Given the description of an element on the screen output the (x, y) to click on. 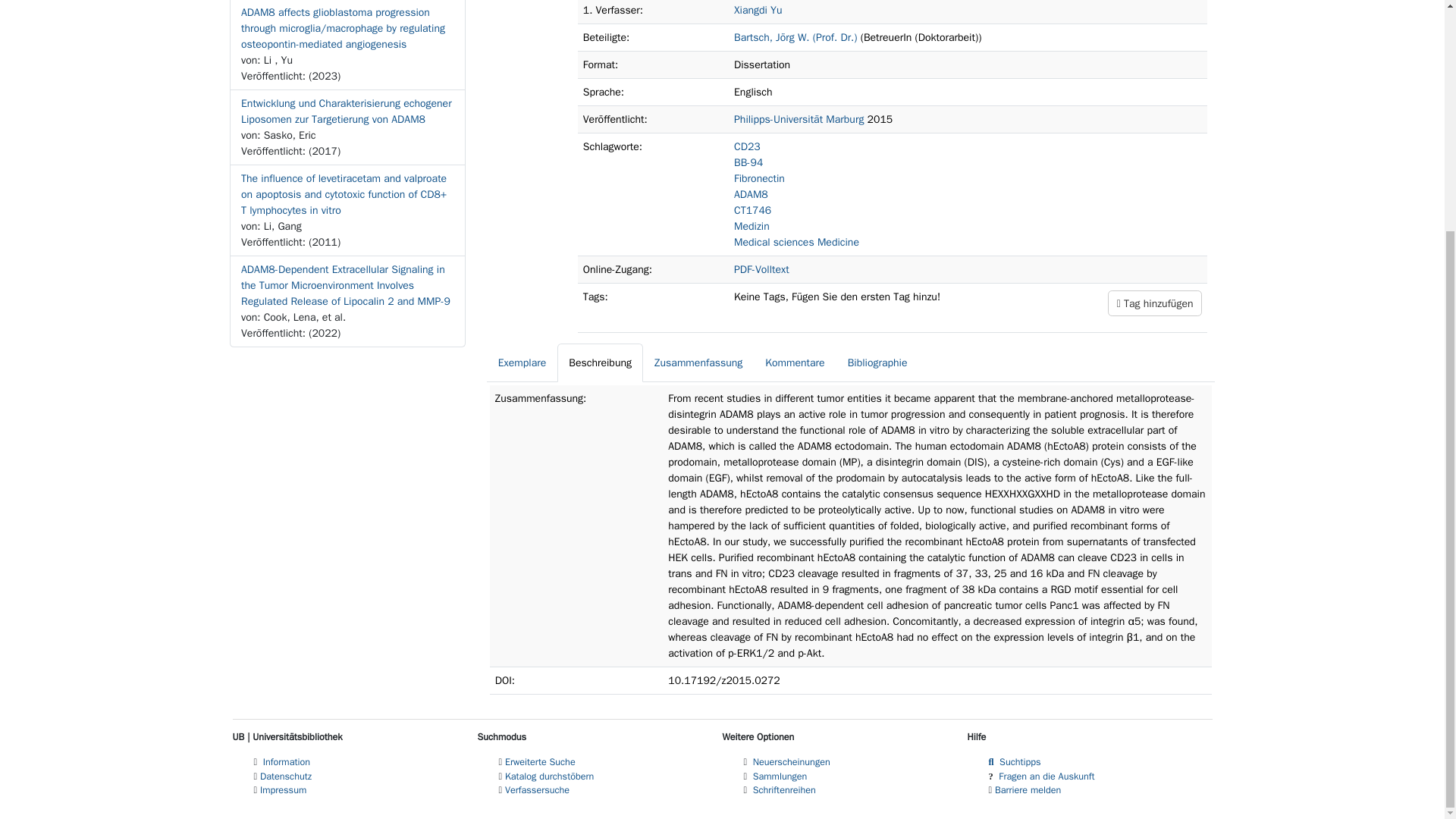
Fibronectin (758, 178)
BB-94 (747, 162)
CT1746 (752, 210)
Medizin (751, 226)
ADAM8 (750, 194)
Medical sciences Medicine (796, 241)
CD23 (746, 146)
